Given the description of an element on the screen output the (x, y) to click on. 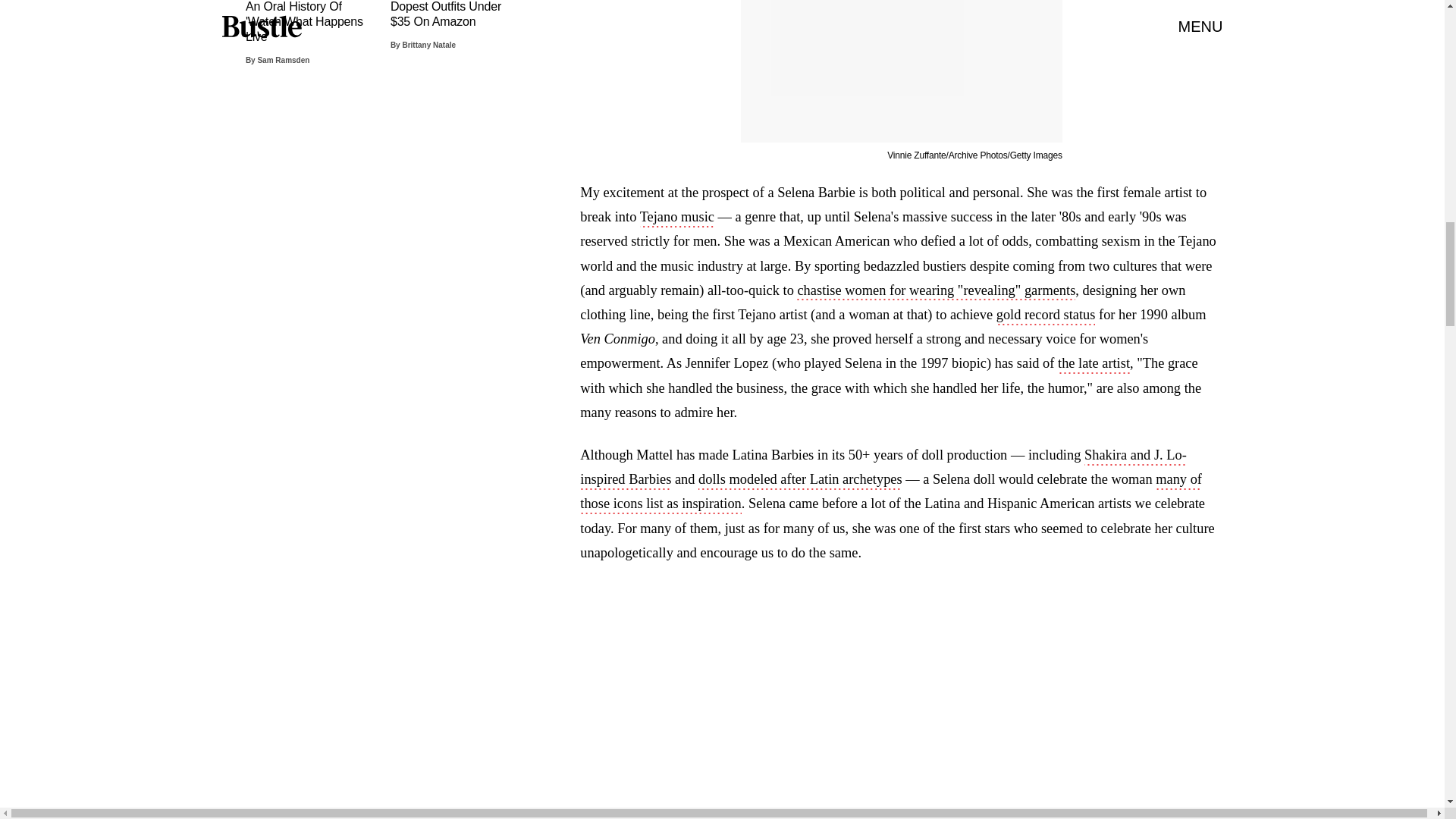
Shakira and J. Lo-inspired Barbies (882, 468)
gold record status (1045, 316)
chastise women for wearing "revealing" garments (935, 291)
dolls modeled after Latin archetypes (800, 480)
many of those icons list as inspiration (890, 492)
Tejano music (677, 218)
the late artist (1093, 364)
